Given the description of an element on the screen output the (x, y) to click on. 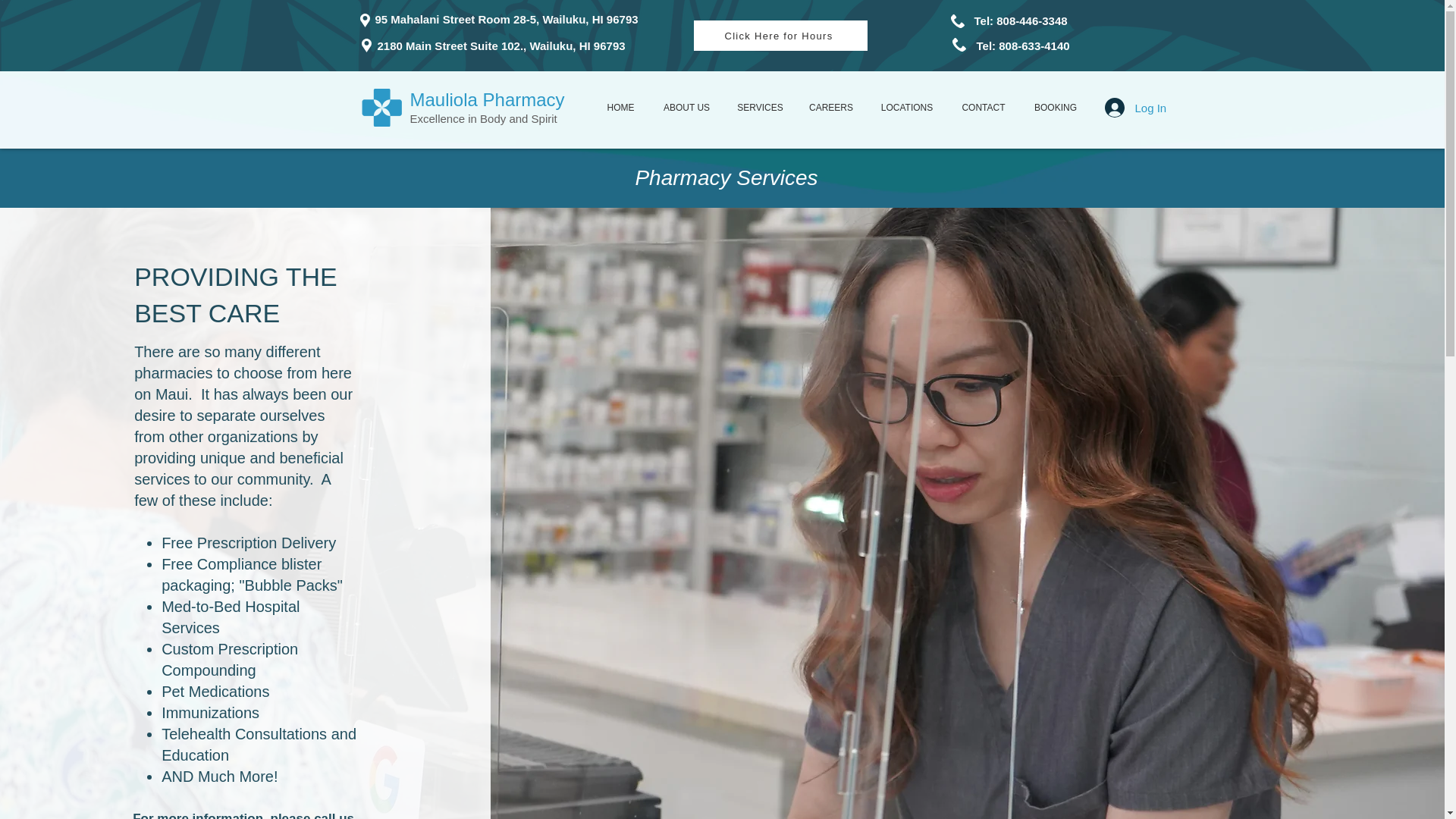
BOOKING (1054, 107)
Room 28-5 (506, 19)
95 Mahalani Street (425, 19)
Click Here for Hours (779, 35)
Log In (1123, 107)
CAREERS (831, 107)
CONTACT (983, 107)
Mauliola Pharmacy (486, 99)
HOME (620, 107)
LOCATIONS (906, 107)
